Given the description of an element on the screen output the (x, y) to click on. 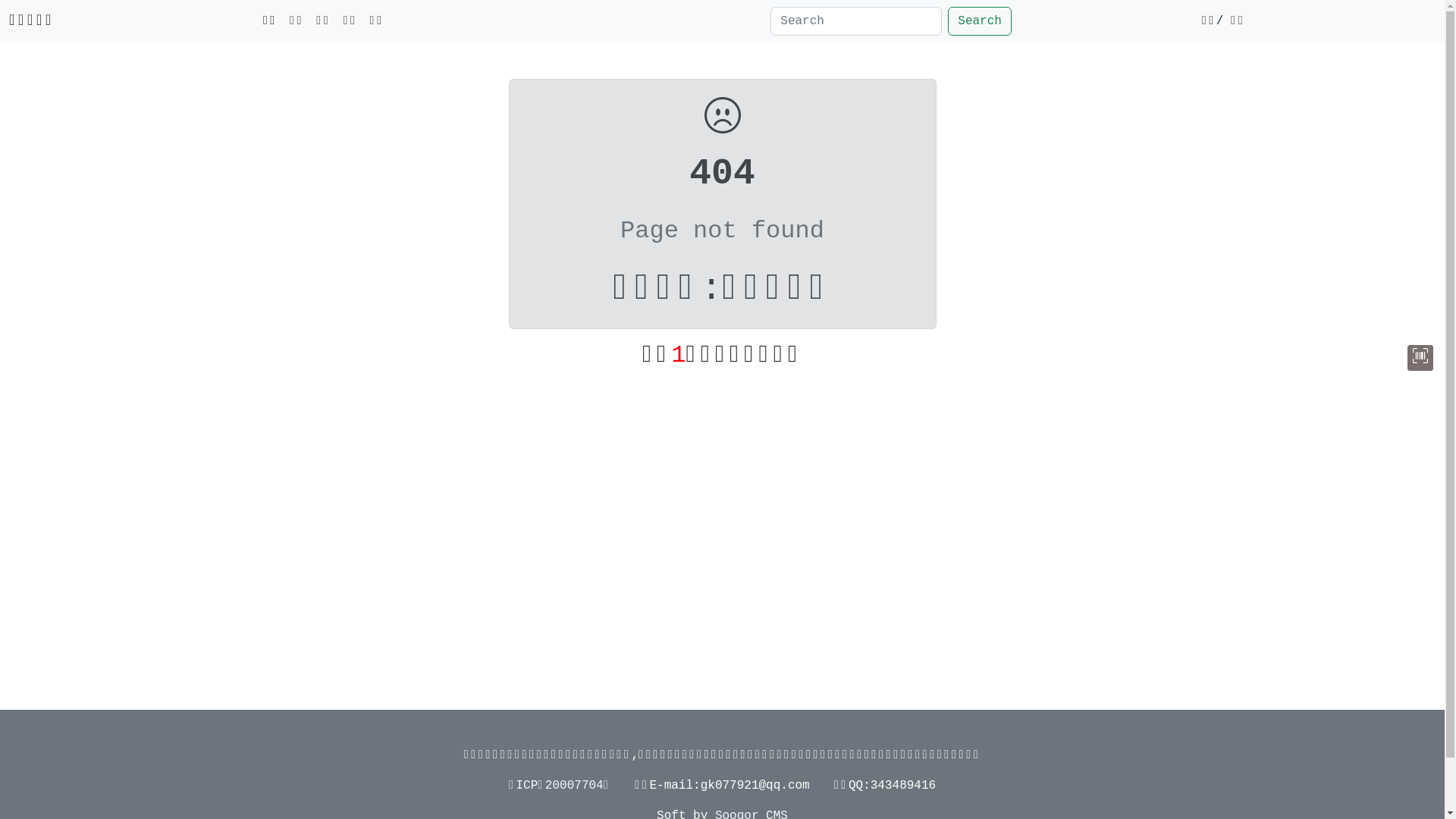
Search Element type: text (979, 20)
